Given the description of an element on the screen output the (x, y) to click on. 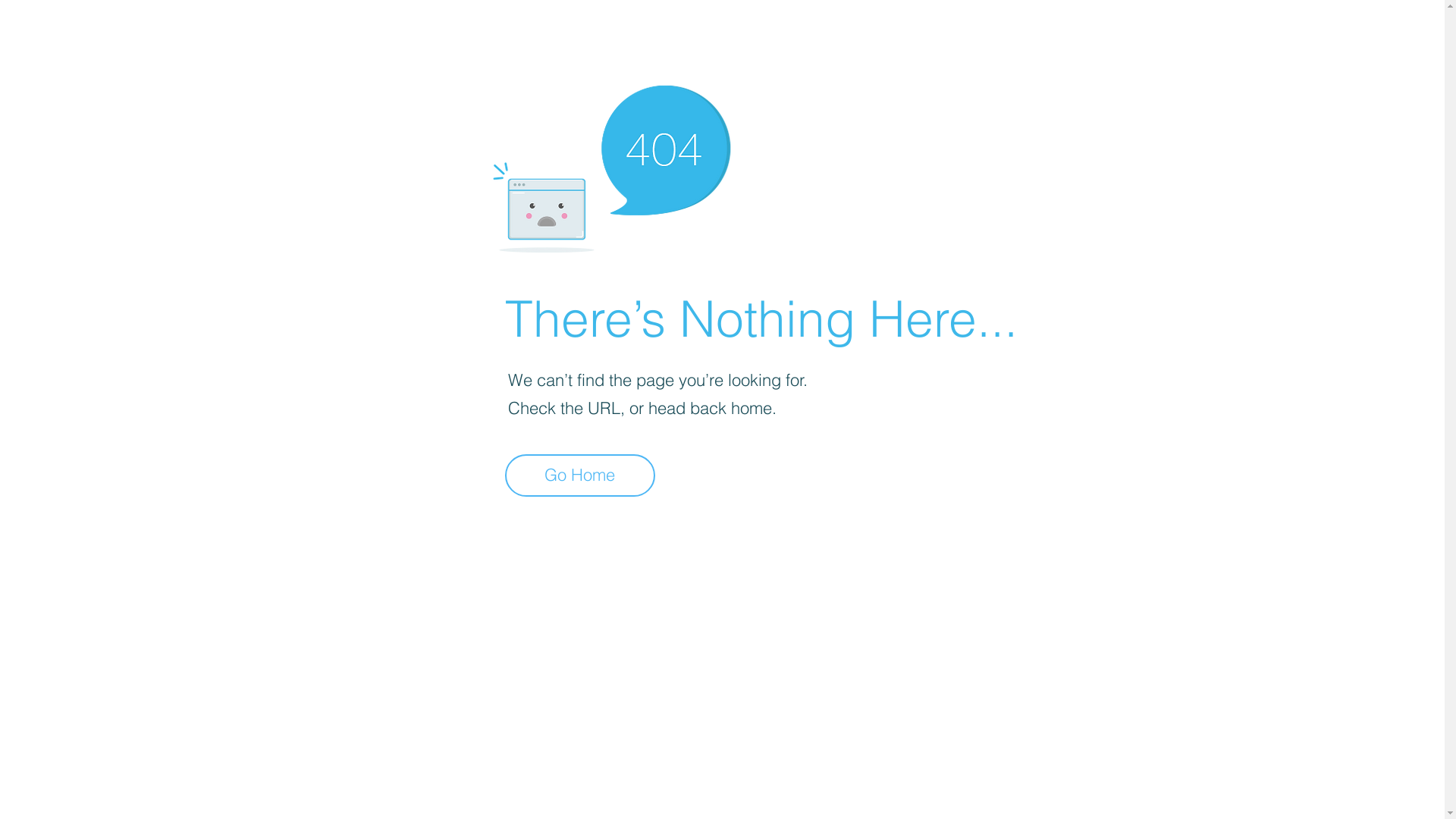
Go Home Element type: text (580, 475)
404-icon_2.png Element type: hover (610, 164)
